Given the description of an element on the screen output the (x, y) to click on. 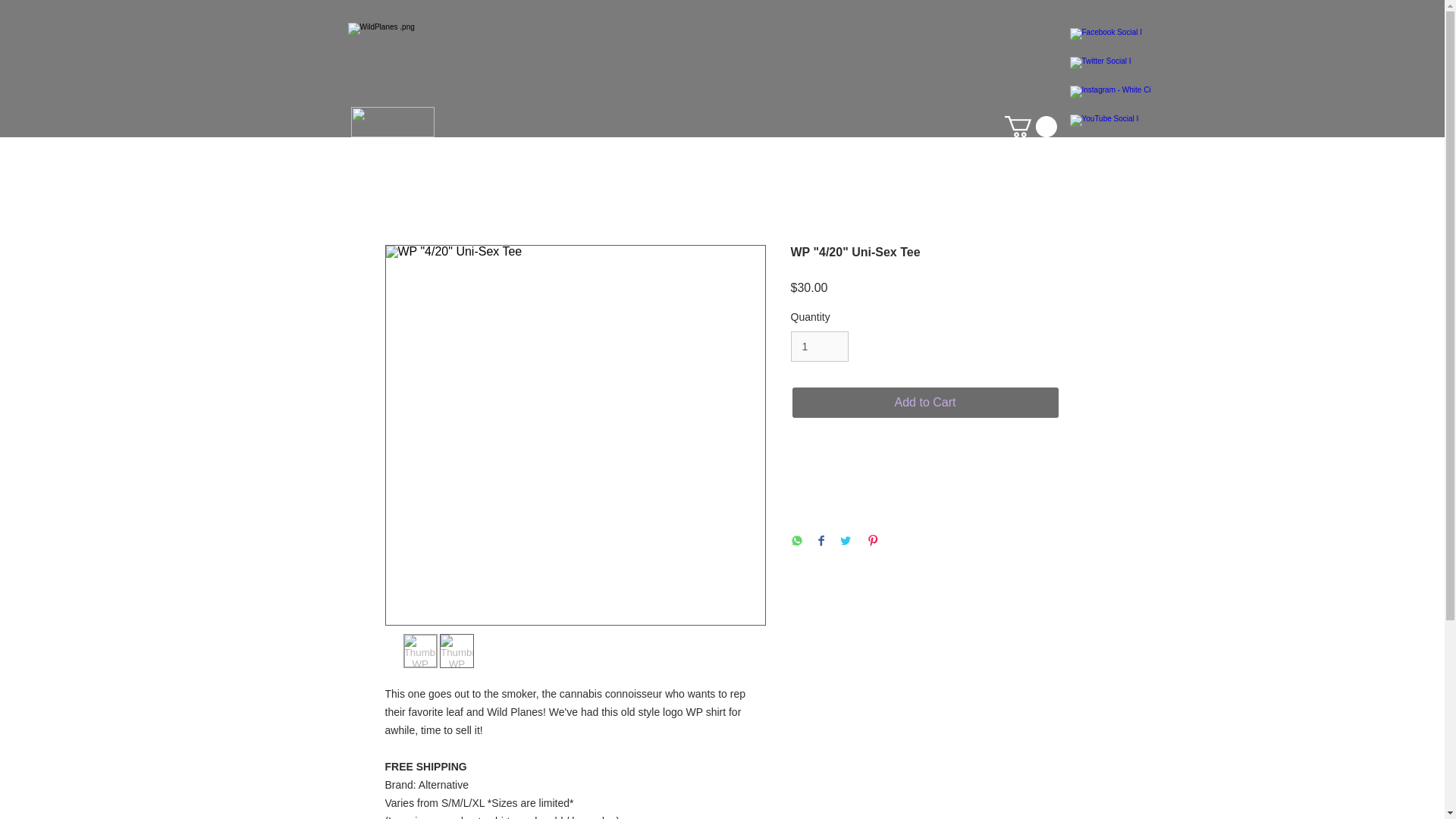
Add to Cart (924, 402)
Get it on iTunes (391, 122)
No Returns (924, 463)
1 (818, 346)
